Given the description of an element on the screen output the (x, y) to click on. 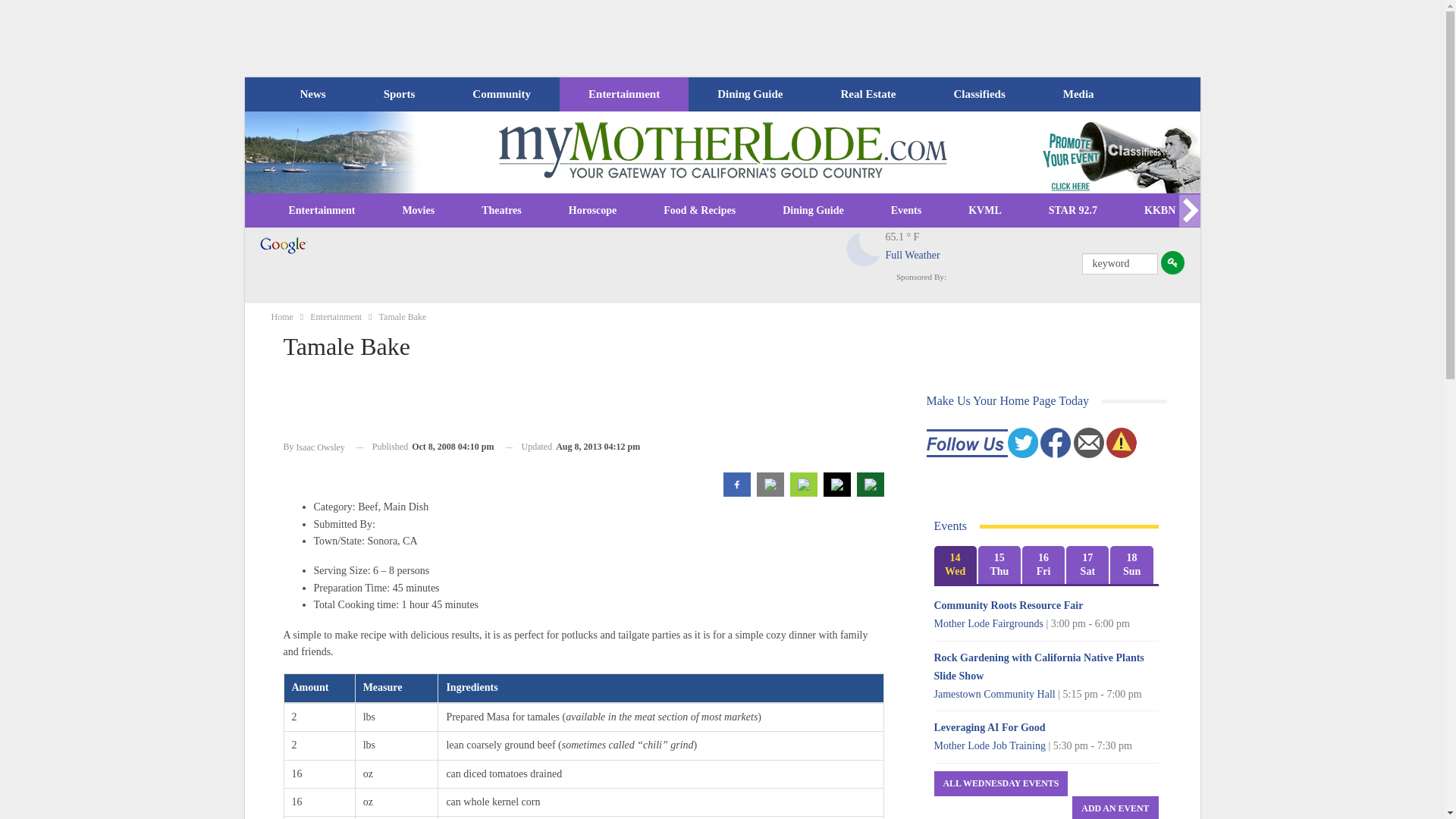
keyword (1119, 263)
All Wednesday Events (1001, 783)
Movies (417, 210)
Dining Guide (749, 93)
KKBN (1159, 210)
Events (906, 210)
Community (501, 93)
Dining Guide (812, 210)
Clear (864, 249)
Add An Event (1114, 807)
